Given the description of an element on the screen output the (x, y) to click on. 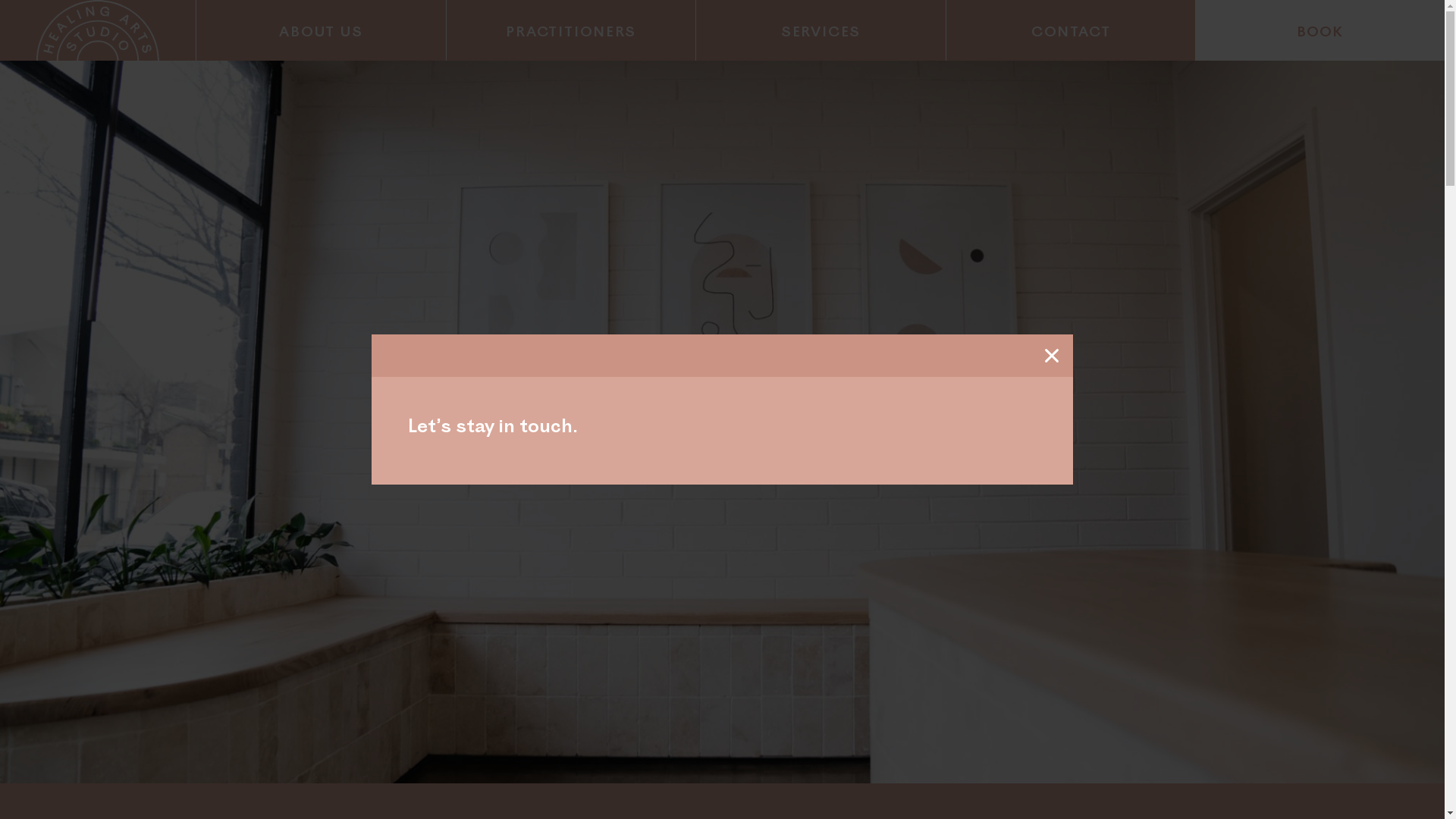
CONTACT Element type: text (1070, 30)
ABOUT US Element type: text (320, 30)
SERVICES Element type: text (820, 30)
PRACTITIONERS Element type: text (571, 30)
BOOK Element type: text (1319, 30)
